Given the description of an element on the screen output the (x, y) to click on. 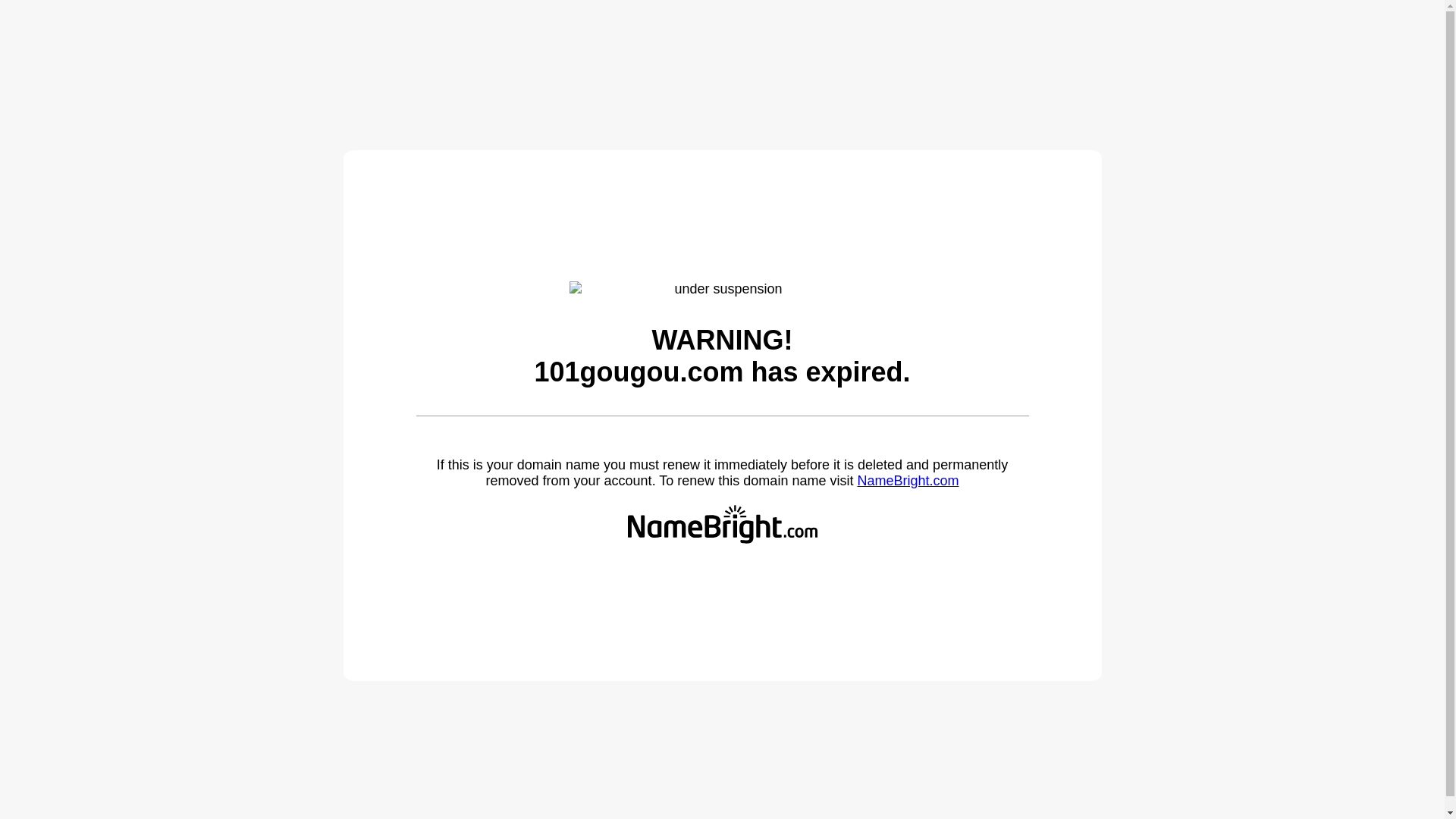
NameBright.com Element type: text (907, 480)
